Given the description of an element on the screen output the (x, y) to click on. 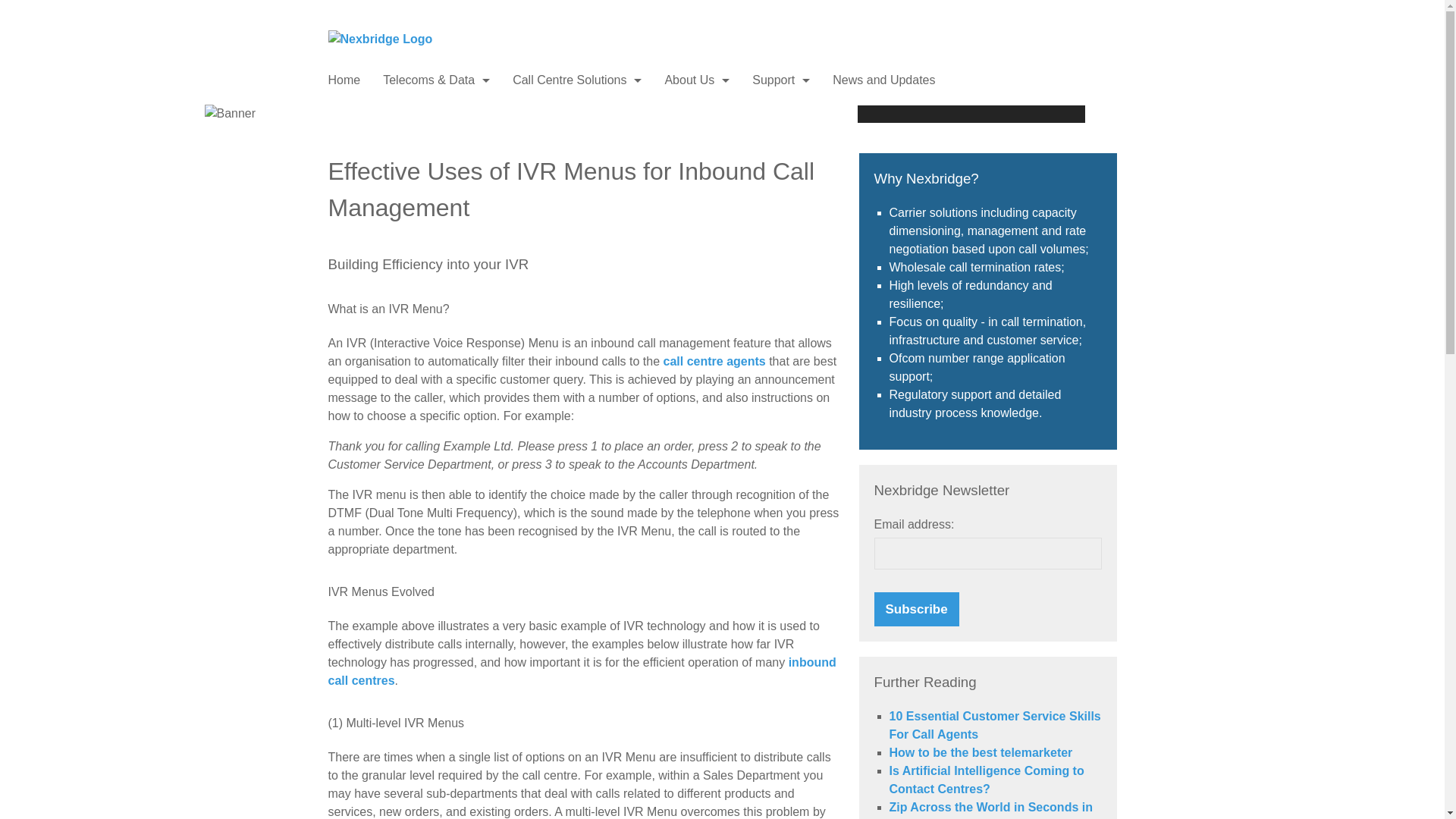
About Us (696, 80)
Call Centre Solutions (576, 80)
Support (781, 80)
call centre agents (714, 360)
News and Updates (883, 80)
10 Essential Customer Service Skills For Call Agents (994, 725)
How to be the best telemarketer (979, 752)
Zip Across the World in Seconds in a Shipping Container (990, 809)
Home (344, 80)
Subscribe (915, 609)
Is Artificial Intelligence Coming to Contact Centres? (985, 779)
inbound call centres (581, 671)
